Given the description of an element on the screen output the (x, y) to click on. 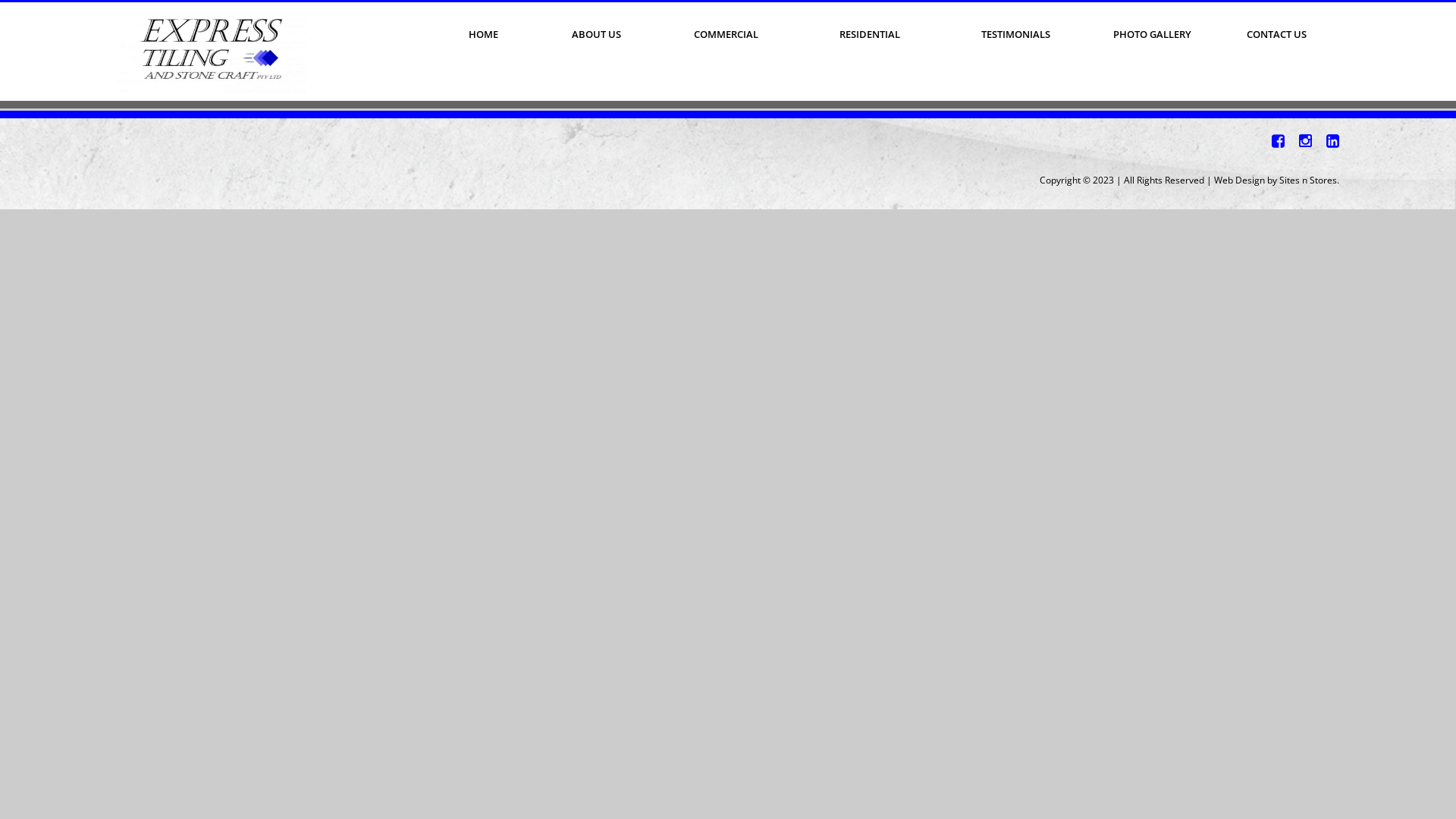
Web Design Element type: text (1239, 179)
Search for: Element type: hover (191, 93)
COMMERCIAL Element type: text (726, 34)
ABOUT US Element type: text (595, 34)
RESIDENTIAL Element type: text (870, 34)
TESTIMONIALS Element type: text (1016, 34)
CONTACT US Element type: text (1276, 34)
Search Element type: text (296, 94)
PHOTO GALLERY Element type: text (1152, 34)
HOME Element type: text (482, 34)
